Given the description of an element on the screen output the (x, y) to click on. 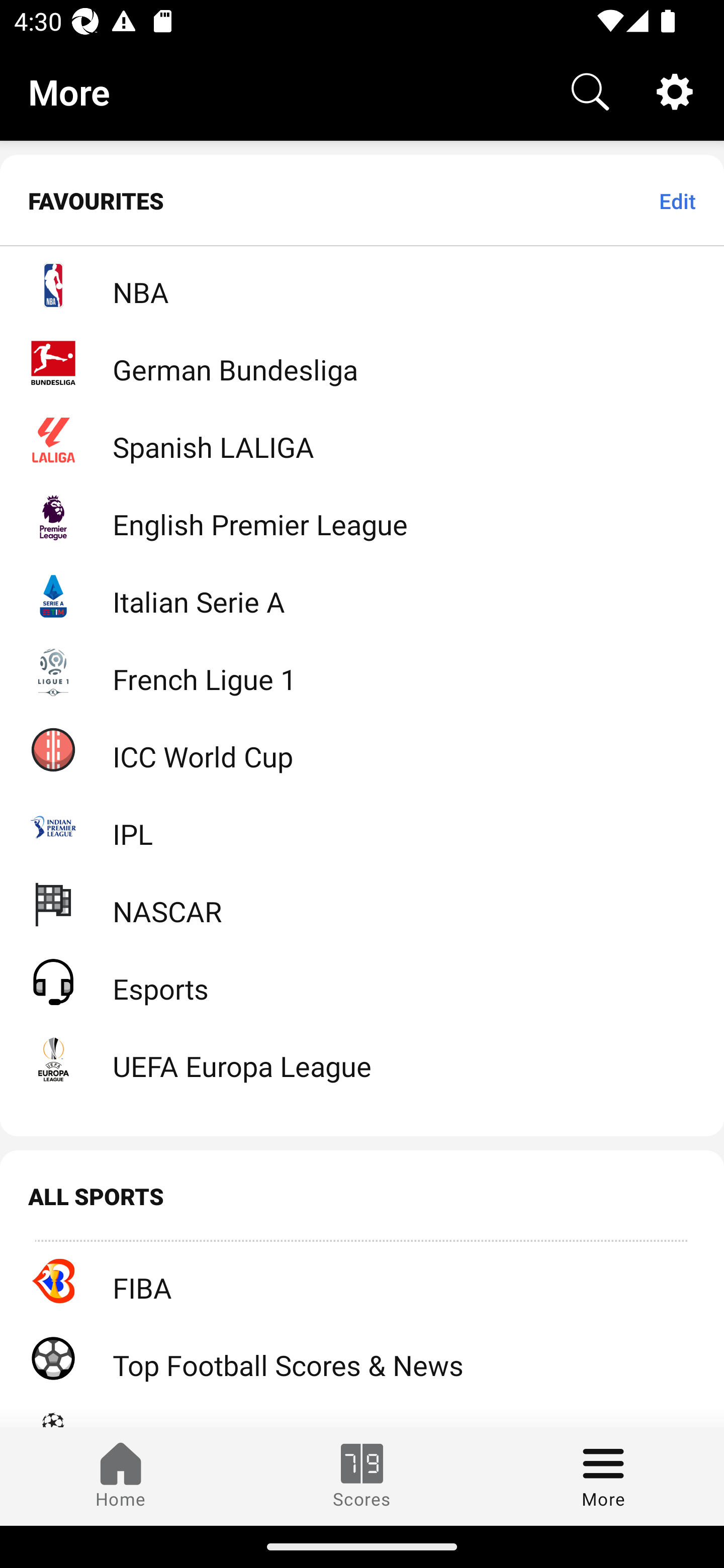
Search (590, 90)
Settings (674, 90)
Edit (676, 200)
NBA (362, 284)
German Bundesliga (362, 362)
Spanish LALIGA (362, 439)
English Premier League (362, 516)
Italian Serie A (362, 594)
French Ligue 1 (362, 671)
ICC World Cup (362, 749)
IPL (362, 826)
NASCAR (362, 903)
Esports (362, 981)
UEFA Europa League (362, 1058)
FIBA  (362, 1279)
Top Football Scores & News (362, 1357)
Home (120, 1475)
Scores (361, 1475)
